Given the description of an element on the screen output the (x, y) to click on. 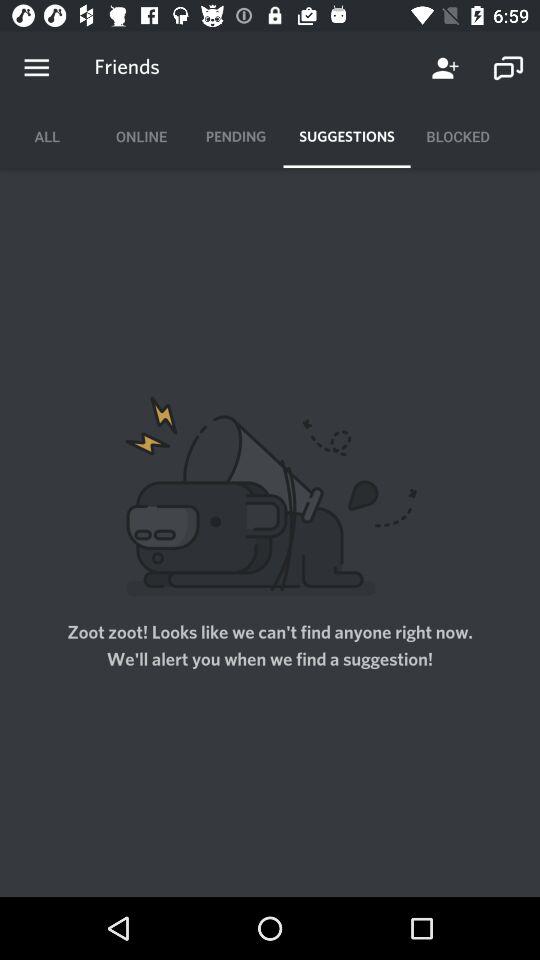
tap the icon to the right of the friends (444, 67)
